Given the description of an element on the screen output the (x, y) to click on. 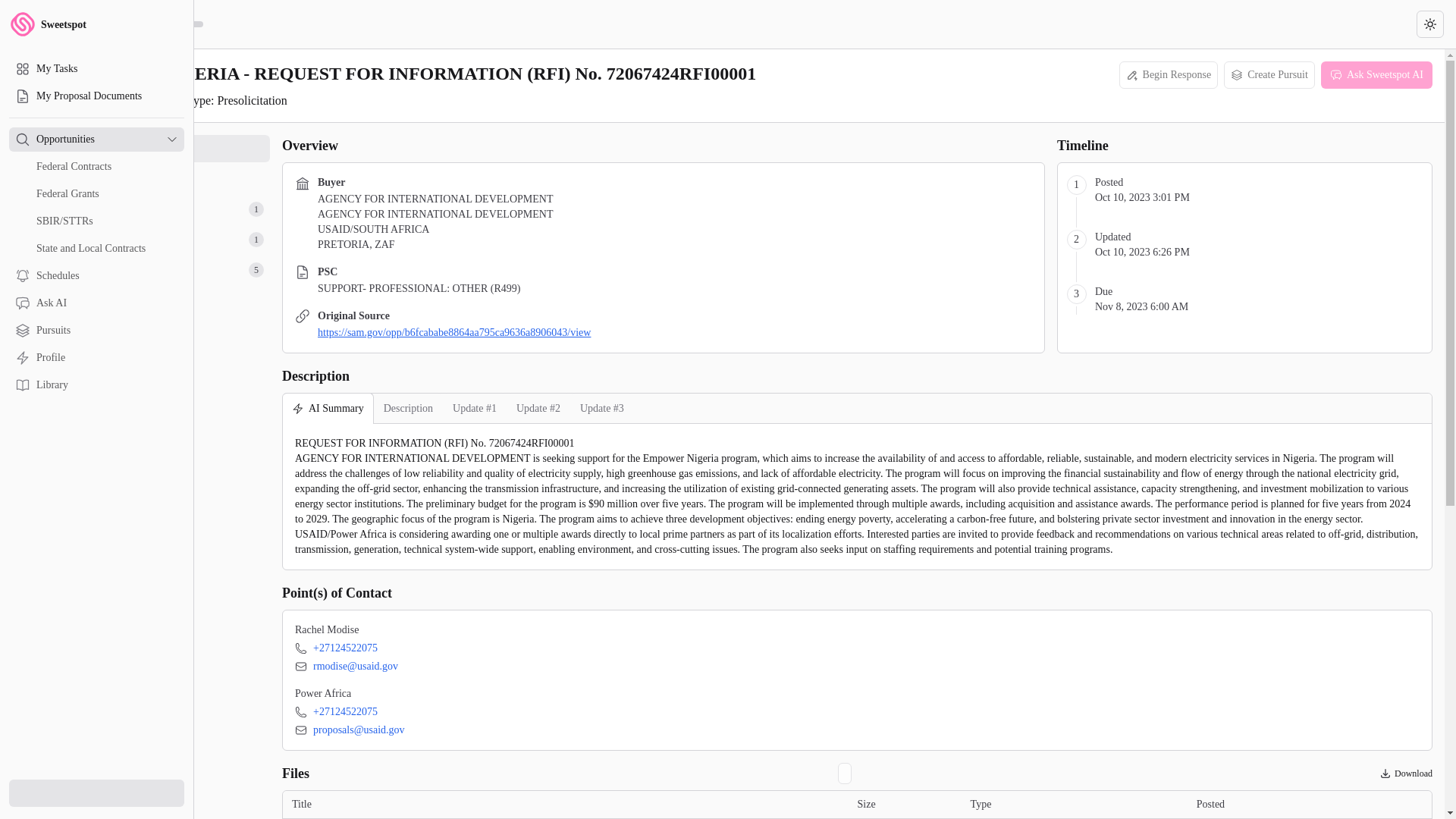
My Tasks (96, 68)
My Proposal Documents (96, 96)
Description (408, 408)
Overview (163, 269)
AI Summary (163, 148)
Download (328, 408)
People (1405, 773)
Create Pursuit (163, 178)
Begin Response (1269, 74)
Sweetspot (1168, 74)
Opportunities (97, 24)
Ask Sweetspot AI (96, 139)
